Given the description of an element on the screen output the (x, y) to click on. 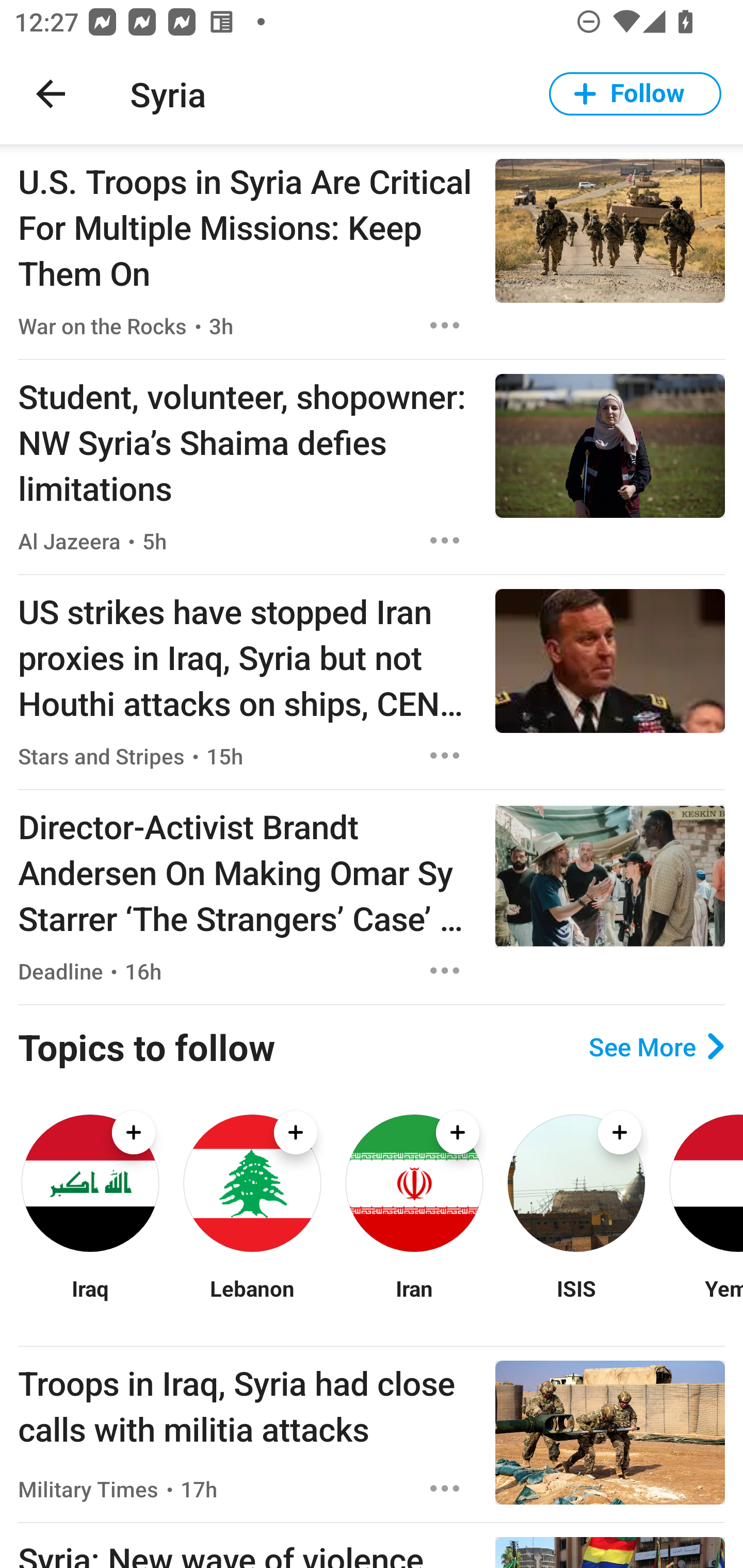
Navigate up (50, 93)
Follow (635, 94)
Options (444, 325)
Options (444, 540)
Options (444, 755)
Options (444, 970)
See More (656, 1046)
Iraq (89, 1300)
Lebanon (251, 1300)
Iran (413, 1300)
ISIS (575, 1300)
Options (444, 1488)
